Given the description of an element on the screen output the (x, y) to click on. 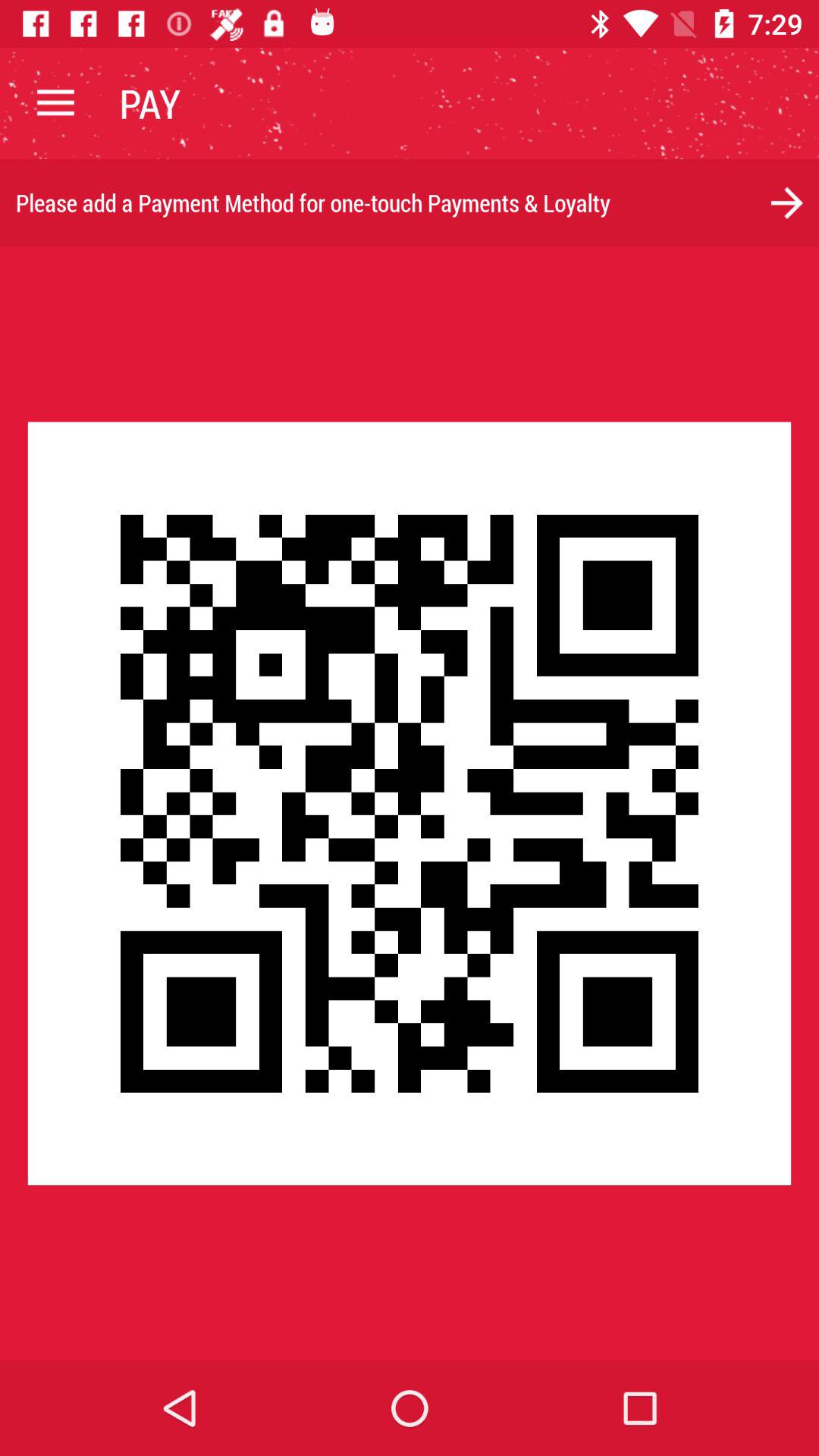
turn on item next to the pay icon (55, 103)
